Given the description of an element on the screen output the (x, y) to click on. 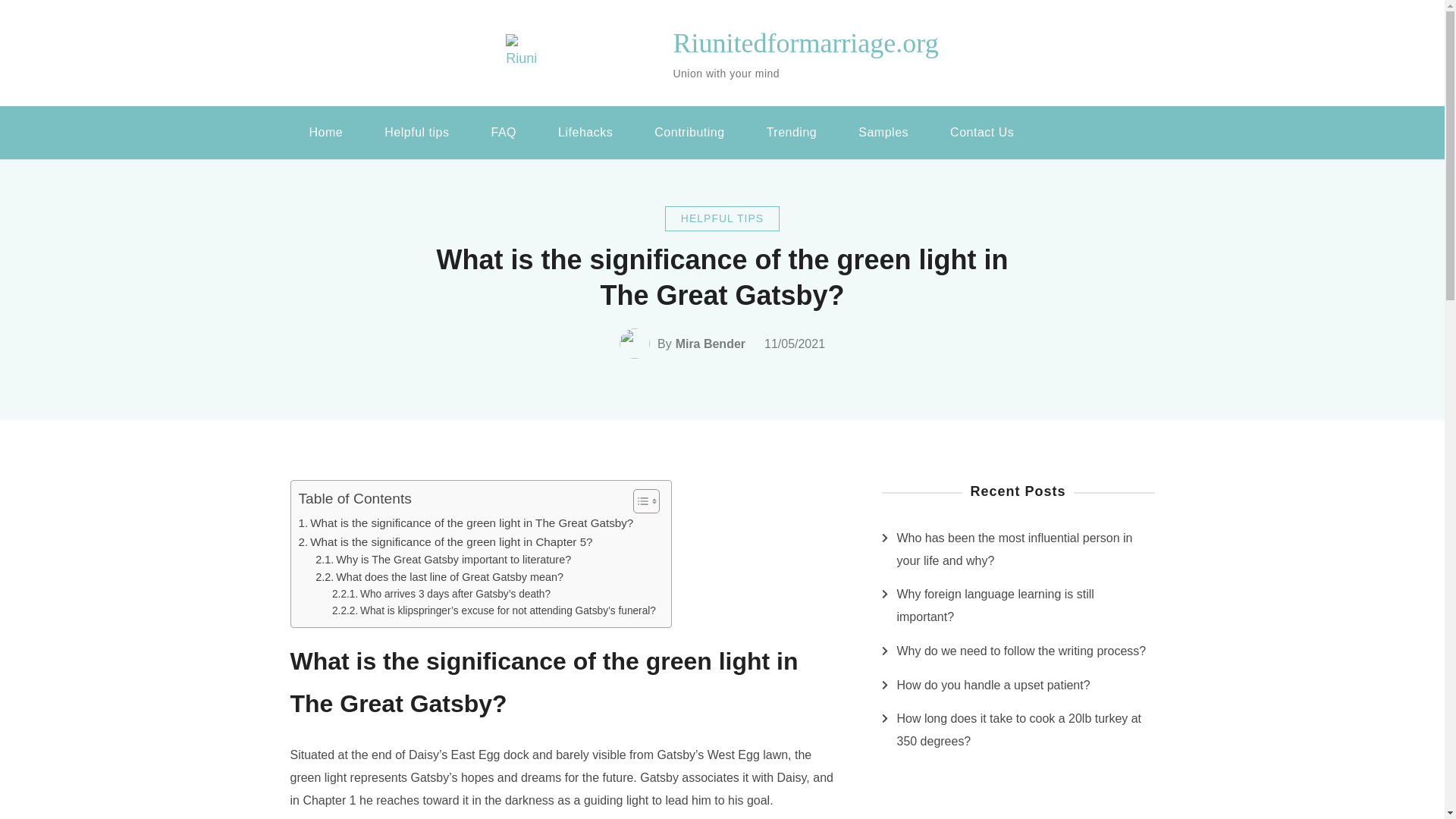
FAQ (503, 132)
Why foreign language learning is still important? (1025, 605)
How long does it take to cook a 20lb turkey at 350 degrees? (1025, 729)
Lifehacks (584, 132)
Why is The Great Gatsby important to literature? (442, 559)
Why do we need to follow the writing process? (1020, 650)
How do you handle a upset patient? (992, 685)
Trending (791, 132)
